Given the description of an element on the screen output the (x, y) to click on. 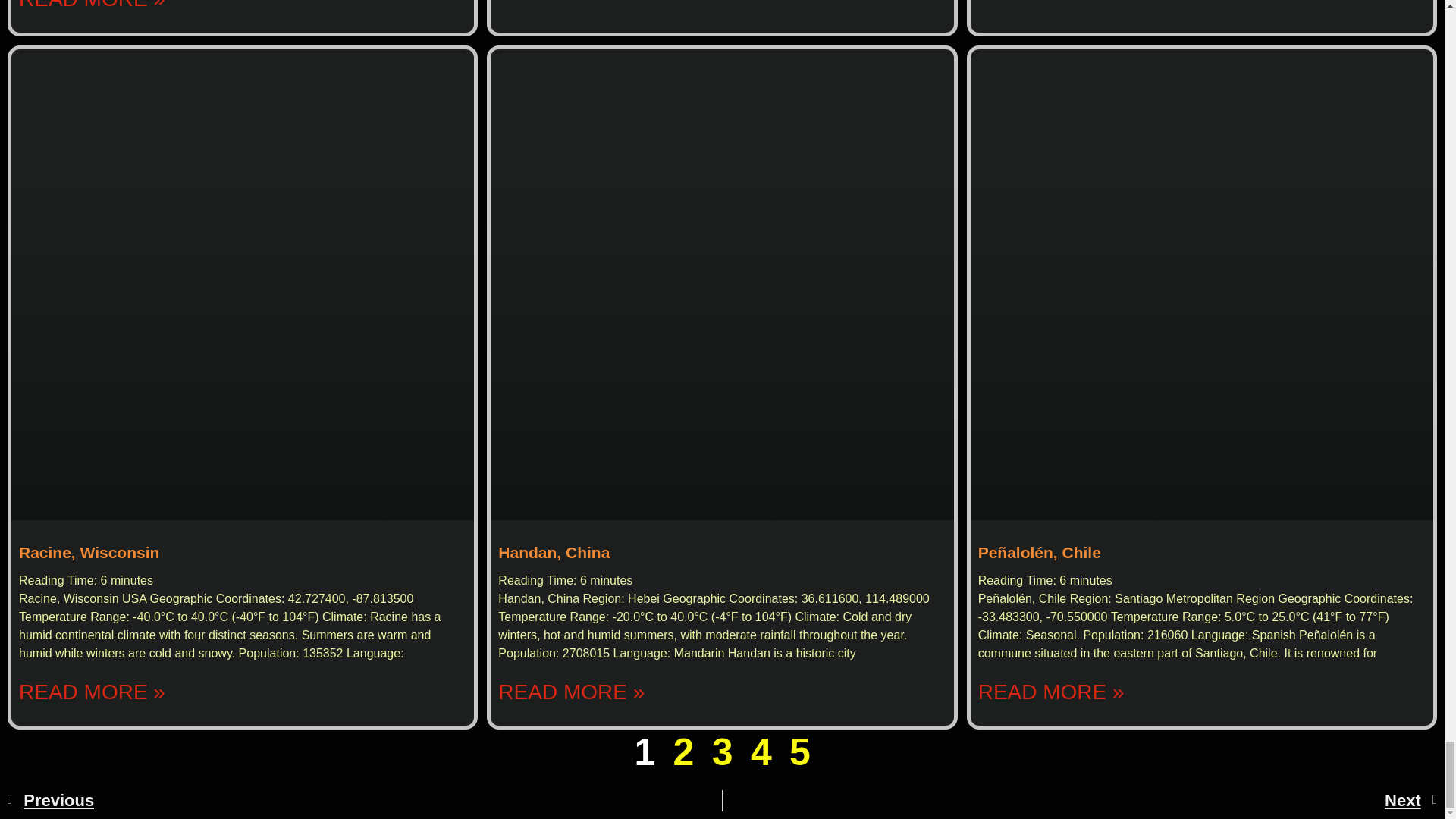
Handan, China (553, 552)
Racine, Wisconsin (88, 552)
Next (1079, 800)
Previous (364, 800)
